Given the description of an element on the screen output the (x, y) to click on. 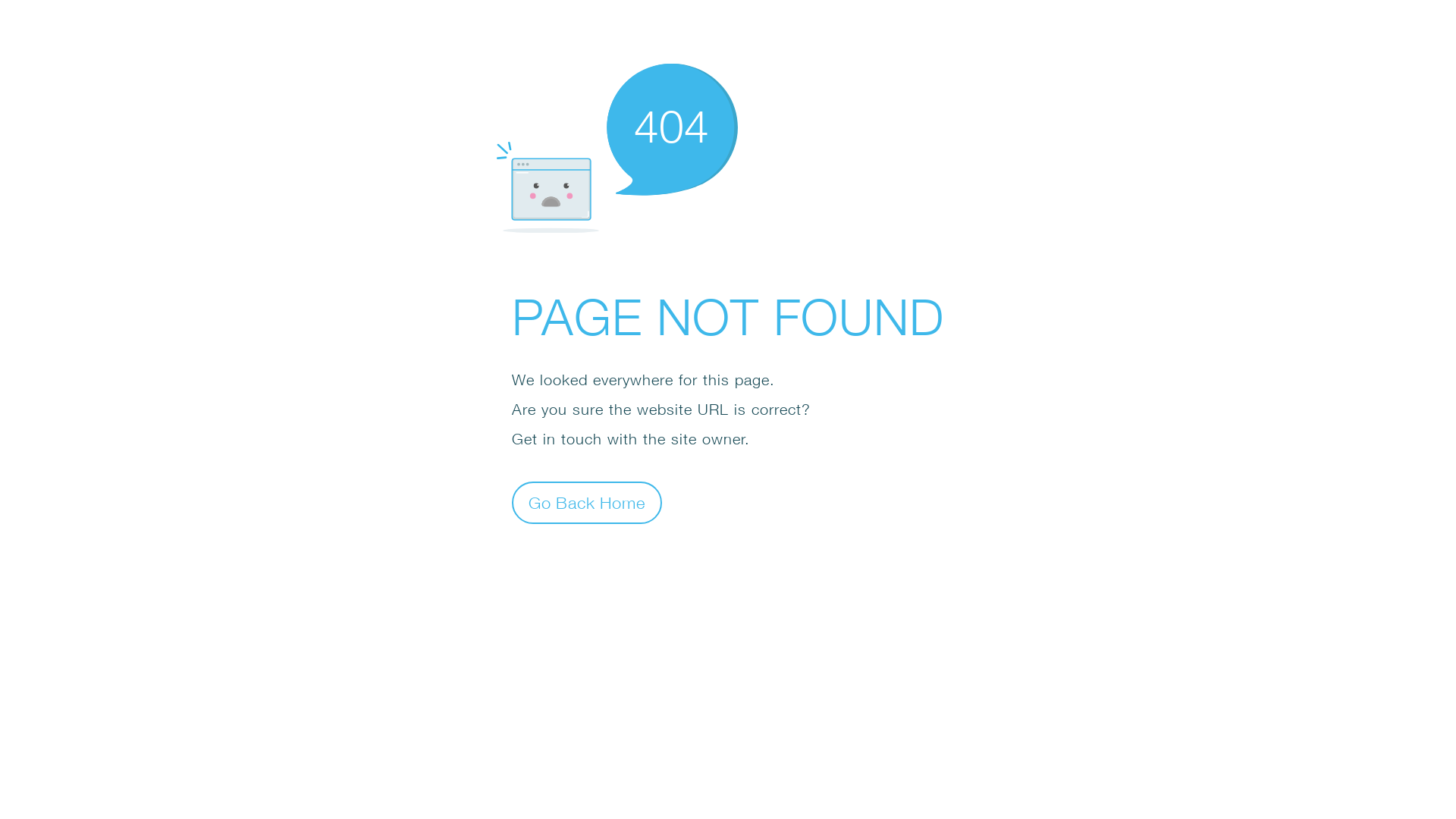
Go Back Home Element type: text (586, 502)
